Given the description of an element on the screen output the (x, y) to click on. 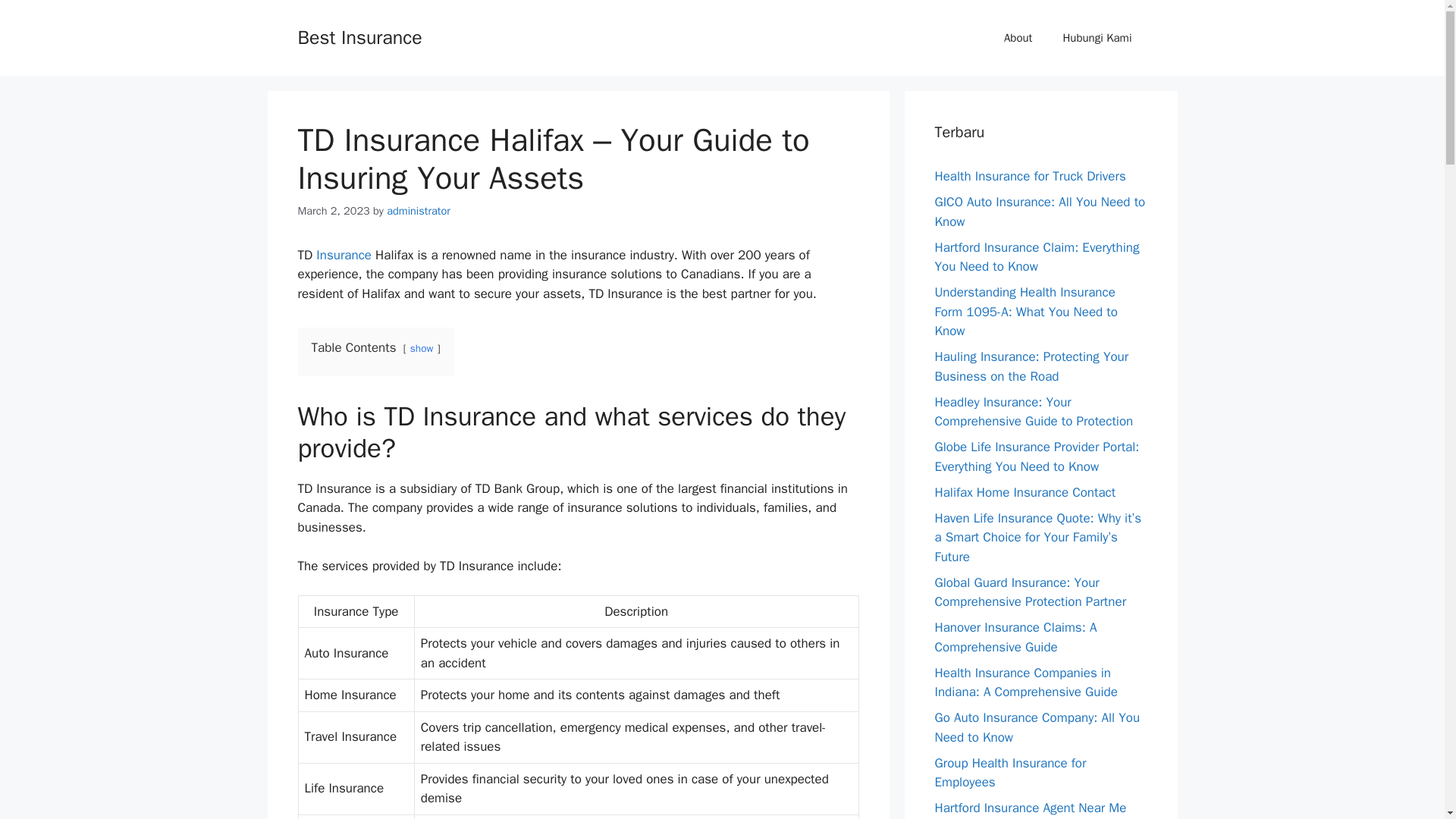
About (1017, 37)
View all posts by administrator (418, 210)
Best Insurance (359, 37)
administrator (418, 210)
Insurance (343, 254)
show (421, 348)
Insurance (343, 254)
Hubungi Kami (1096, 37)
